Given the description of an element on the screen output the (x, y) to click on. 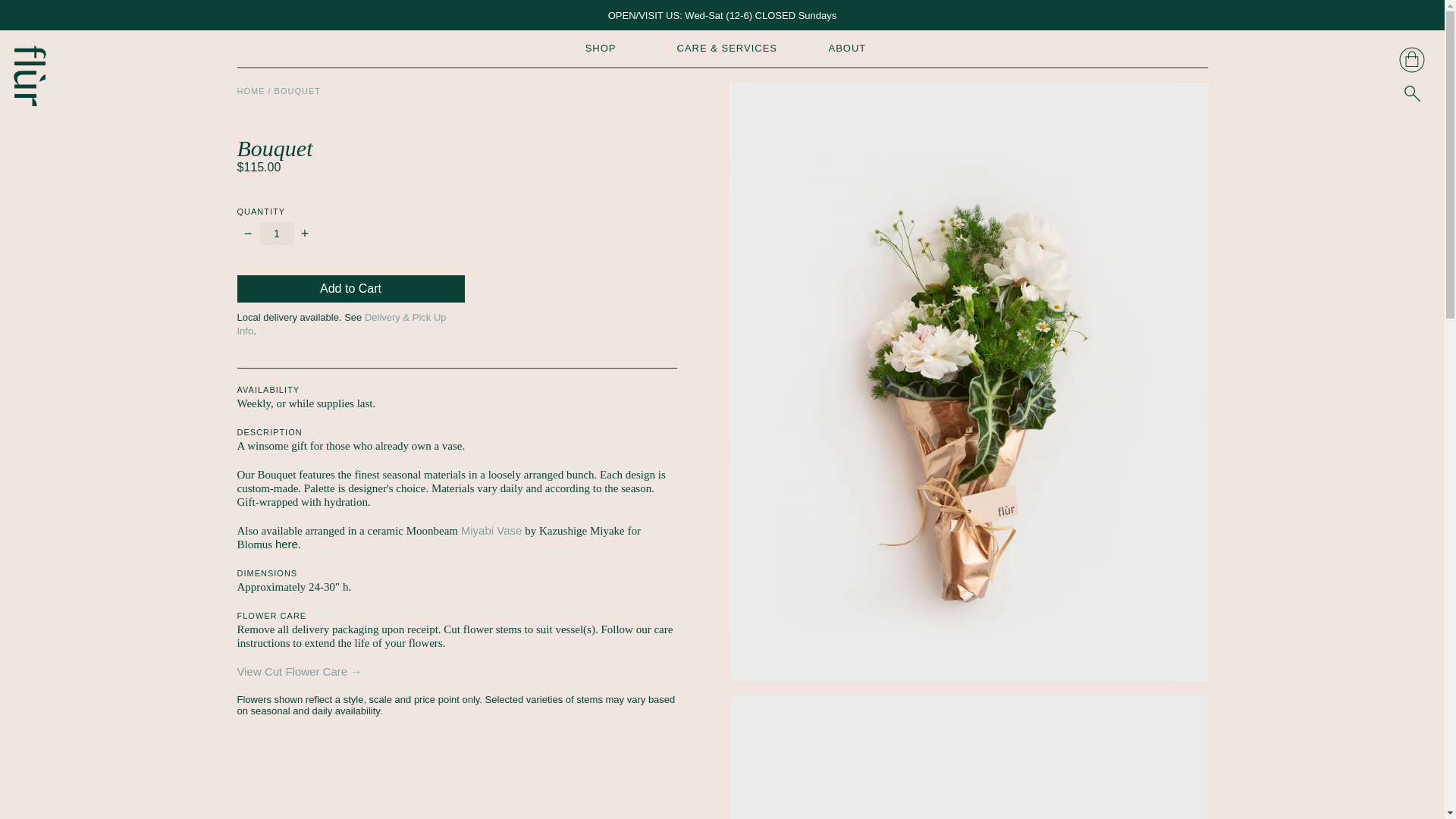
Add to Cart (349, 288)
Search (1411, 93)
HOME (249, 90)
here (286, 543)
Miyabi Vase (491, 530)
1 (276, 232)
miyabi vase arrangement flowers kazushige miyaki for blomus (286, 543)
0 (1411, 59)
Home (249, 90)
miyabi vase ceramic kazushige miyake for blomus (491, 530)
